Given the description of an element on the screen output the (x, y) to click on. 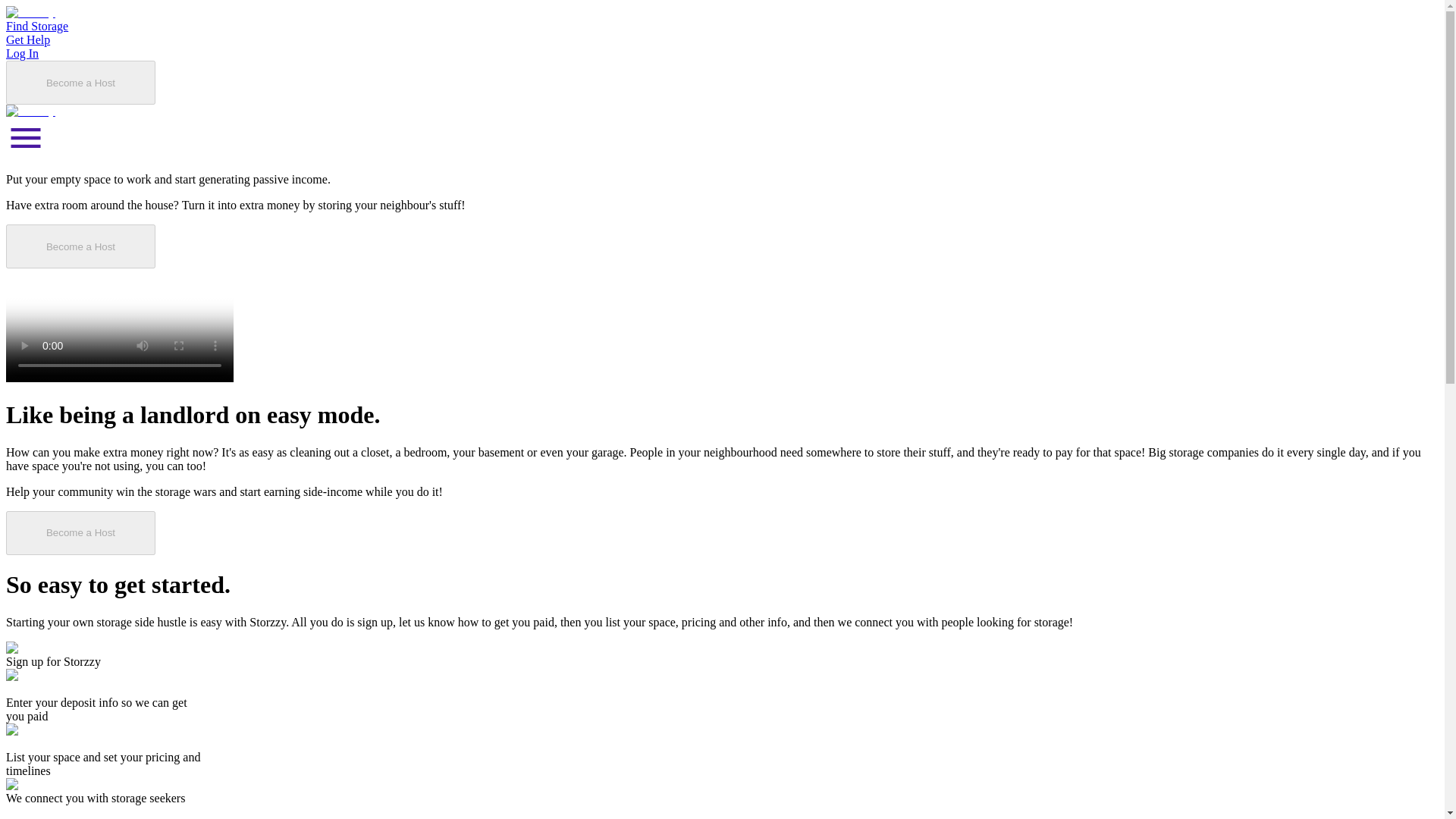
Log In (1115, 36)
Become a Host (1224, 36)
Get Help (1039, 36)
Become a Host (250, 453)
Find Storage (946, 36)
